Given the description of an element on the screen output the (x, y) to click on. 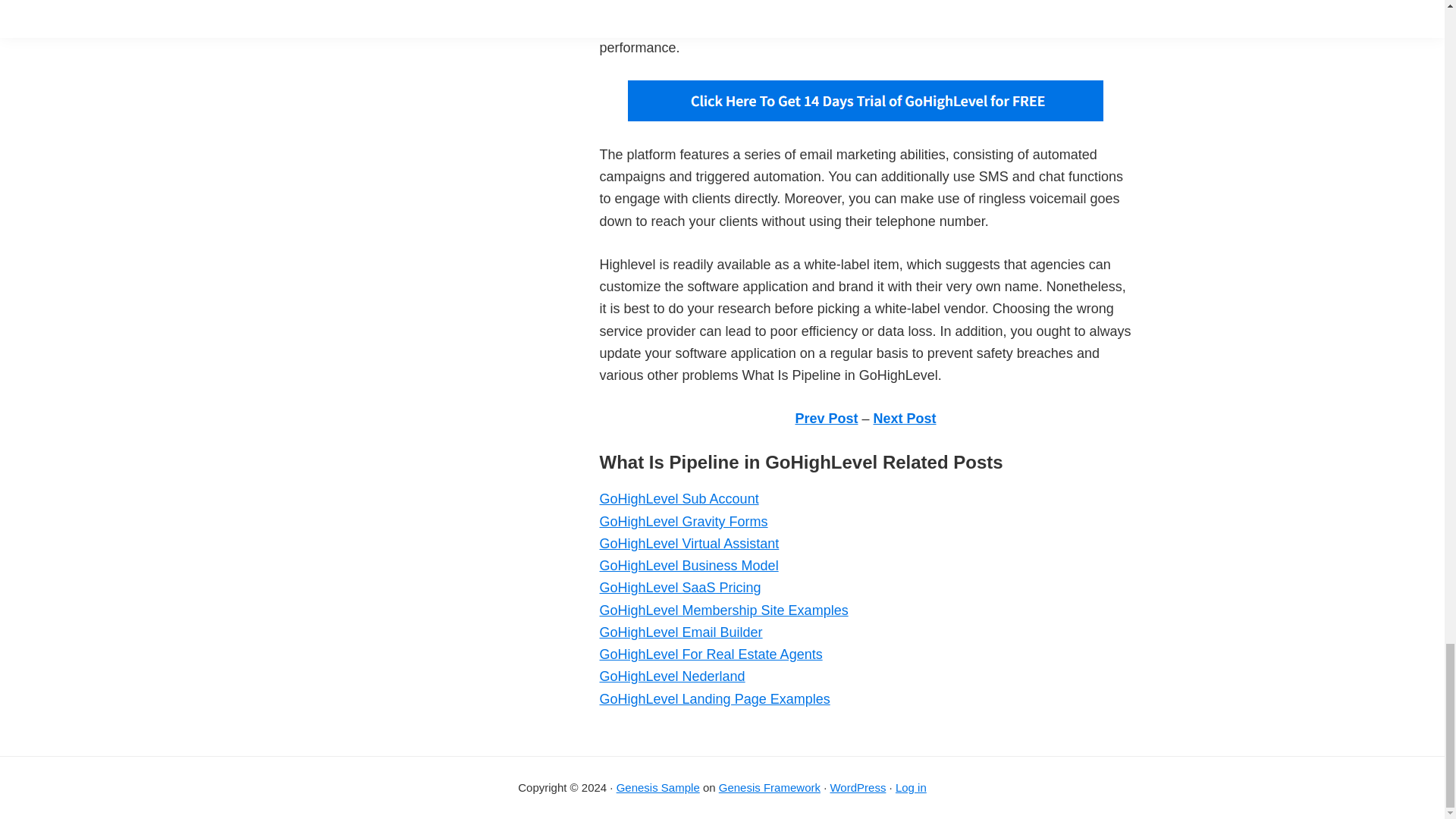
GoHighLevel Membership Site Examples (722, 610)
GoHighLevel Membership Site Examples (722, 610)
GoHighLevel Business Model (687, 565)
GoHighLevel For Real Estate Agents (710, 654)
GoHighLevel Landing Page Examples (713, 698)
GoHighLevel Email Builder (679, 631)
GoHighLevel Gravity Forms (682, 521)
GoHighLevel Gravity Forms (682, 521)
GoHighLevel Virtual Assistant (688, 543)
GoHighLevel Nederland (671, 676)
GoHighLevel Email Builder (679, 631)
GoHighLevel Landing Page Examples (713, 698)
GoHighLevel Sub Account (678, 498)
WordPress (857, 787)
GoHighLevel SaaS Pricing (679, 587)
